Given the description of an element on the screen output the (x, y) to click on. 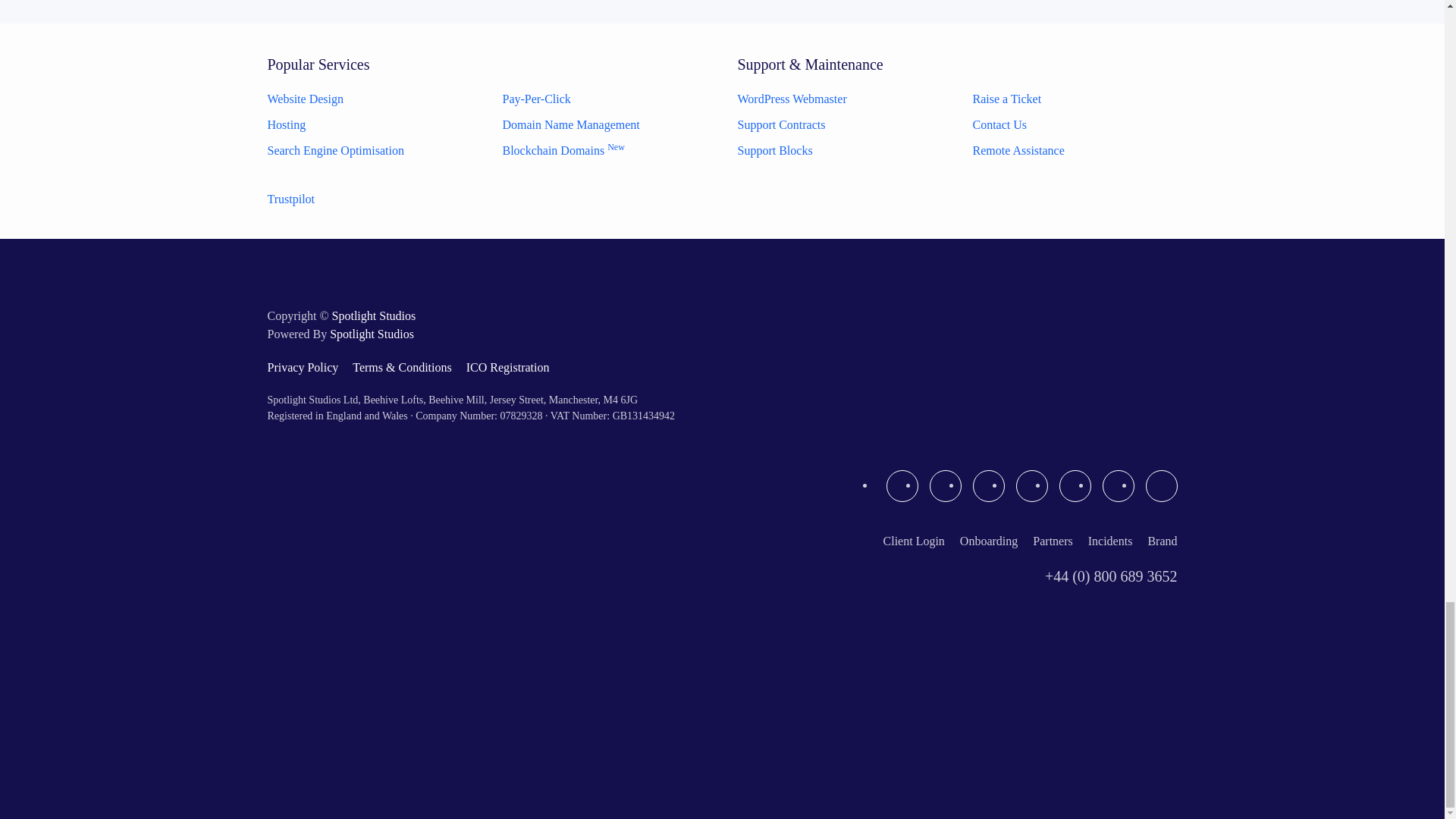
Web Design by Spotlight Studios (371, 333)
Spotlight Studios (373, 315)
